Given the description of an element on the screen output the (x, y) to click on. 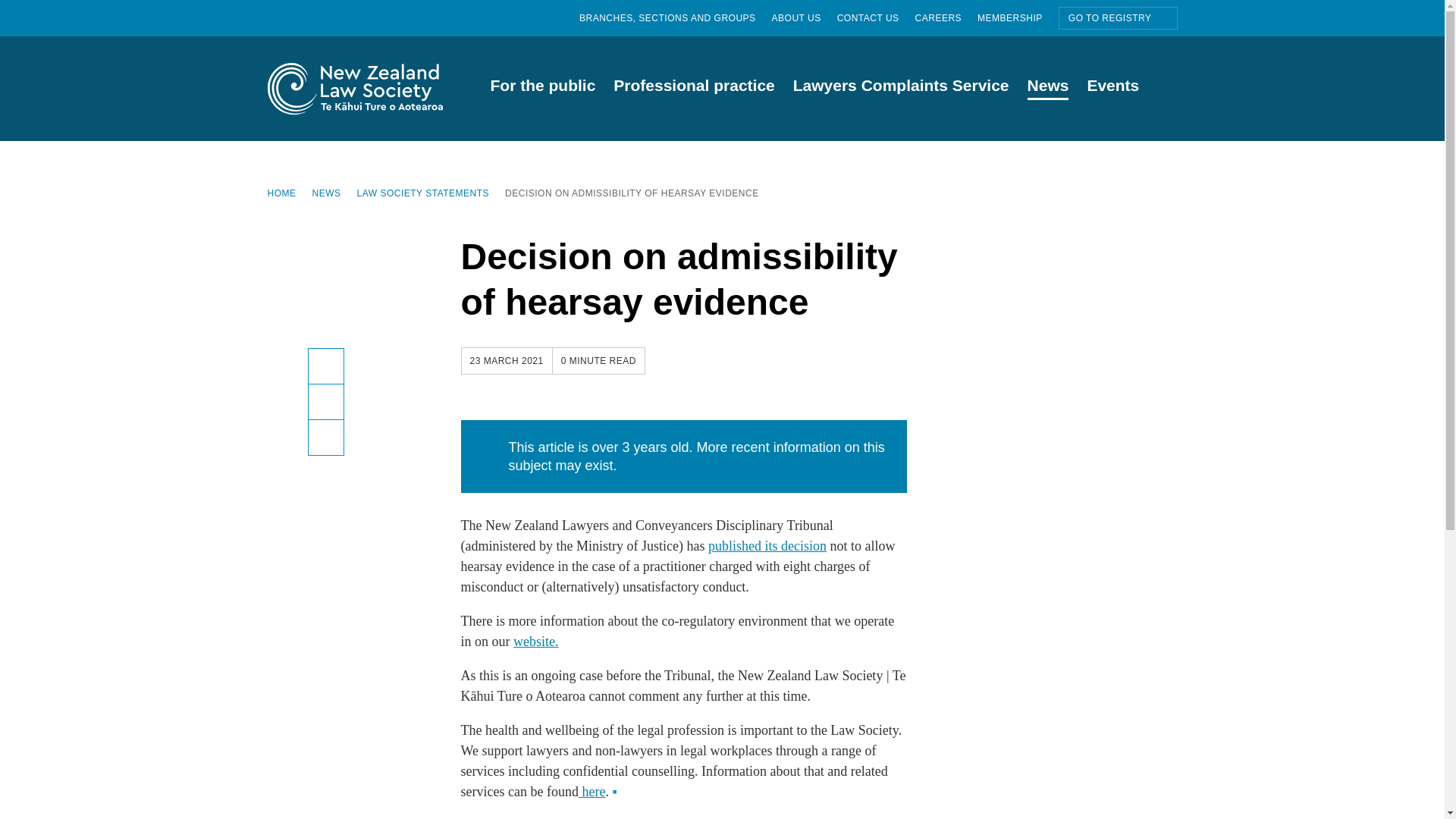
MEMBERSHIP (1017, 18)
CAREERS (946, 18)
ABOUT US (804, 18)
Professional practice (693, 88)
BRANCHES, SECTIONS AND GROUPS (675, 18)
CONTACT US (876, 18)
GO TO REGISTRY (1117, 17)
For the public (542, 88)
